Given the description of an element on the screen output the (x, y) to click on. 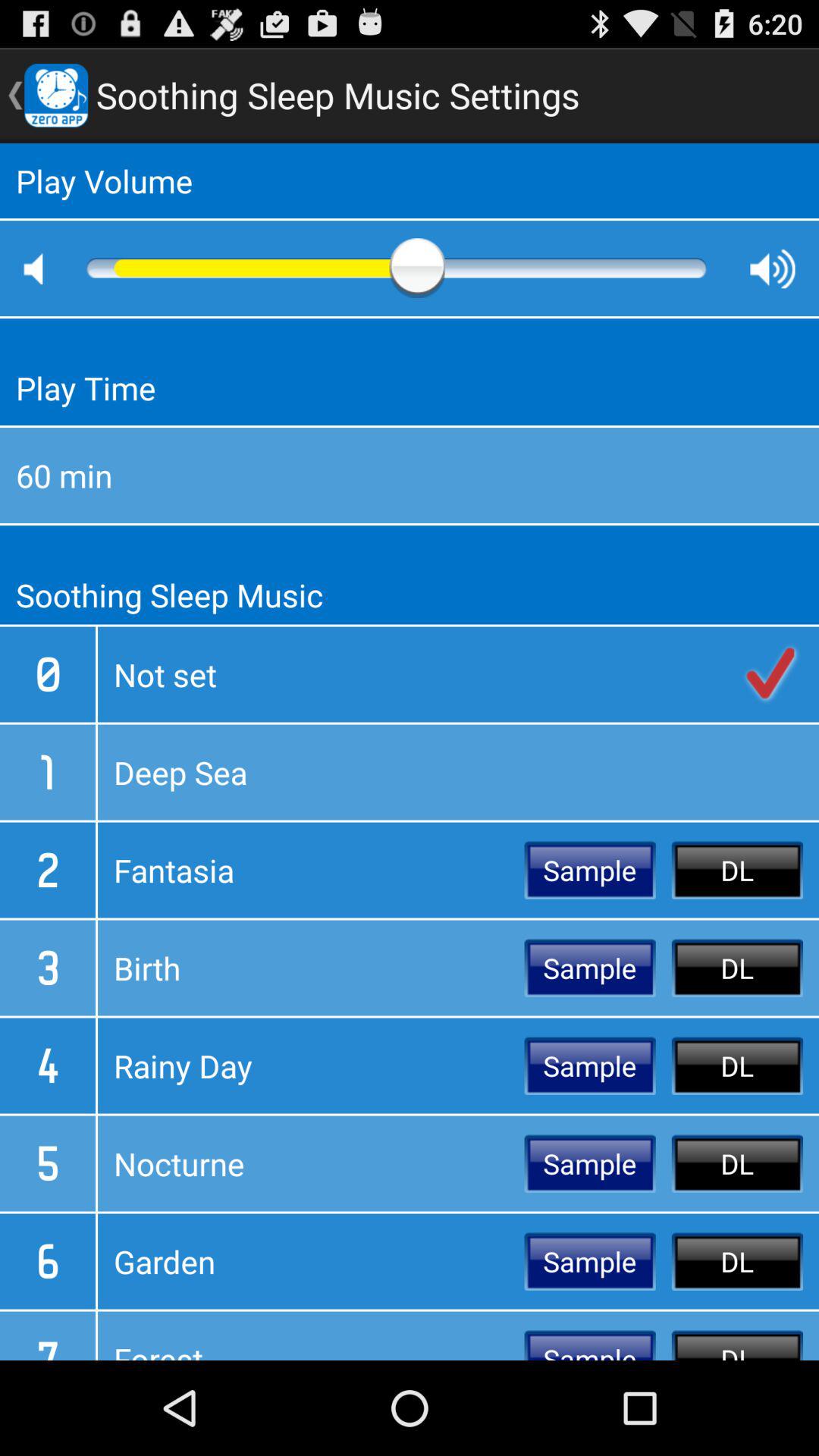
tap icon next to sample icon (310, 1261)
